Given the description of an element on the screen output the (x, y) to click on. 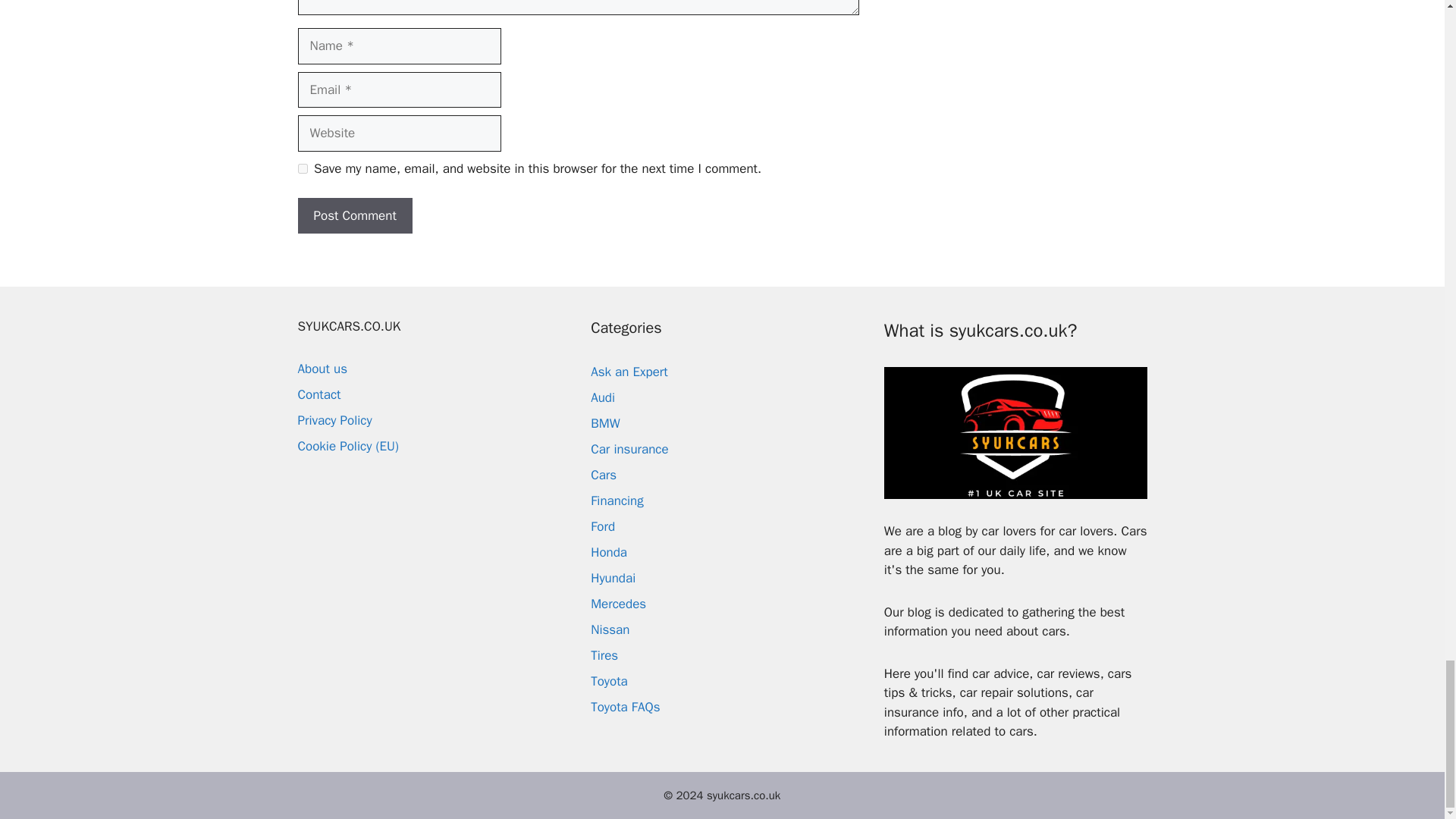
Post Comment (354, 216)
yes (302, 168)
